Given the description of an element on the screen output the (x, y) to click on. 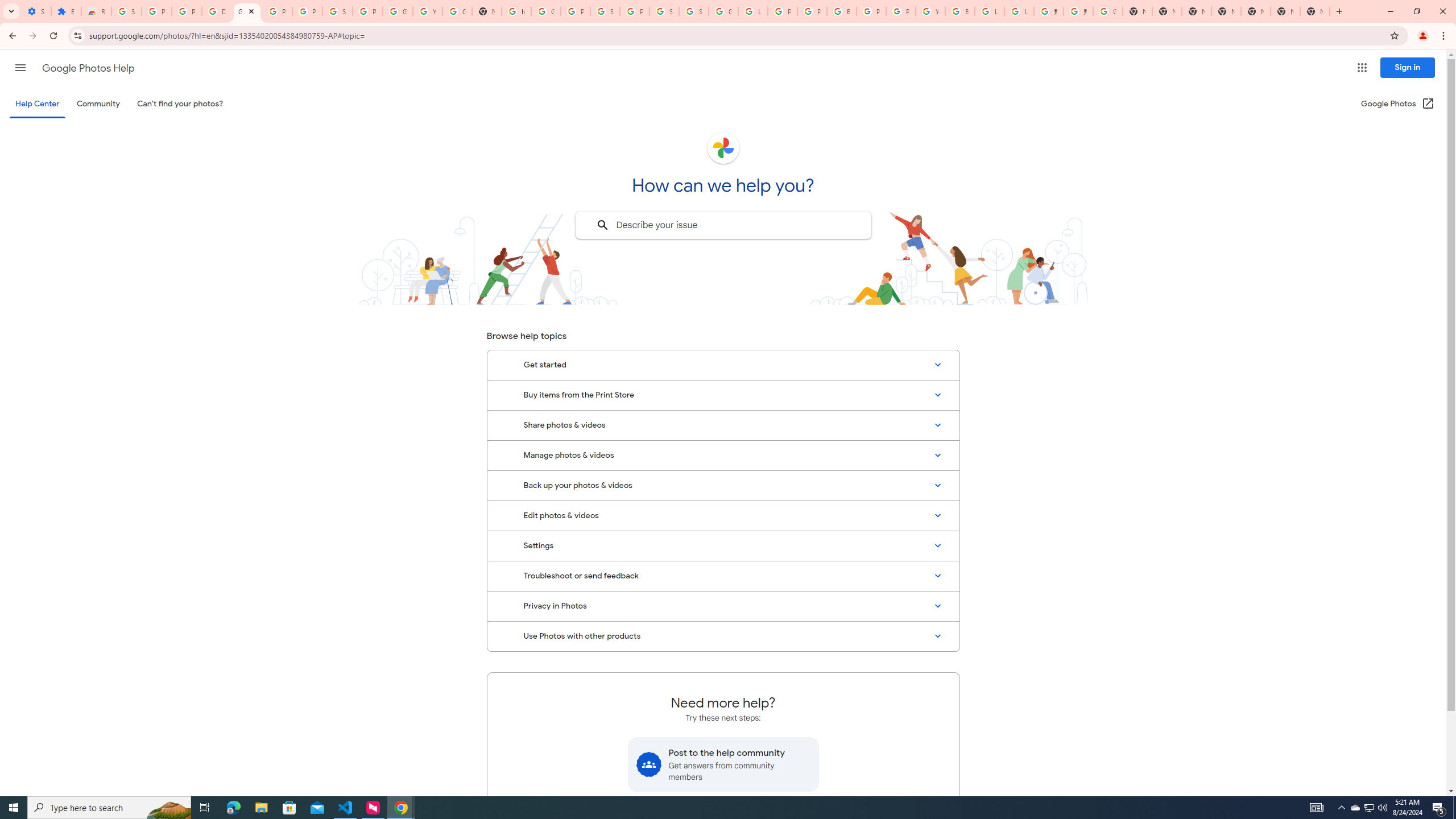
Buy items from the Print Store (722, 395)
Google Images (1107, 11)
Use Photos with other products (722, 636)
Edit photos & videos (722, 515)
